Given the description of an element on the screen output the (x, y) to click on. 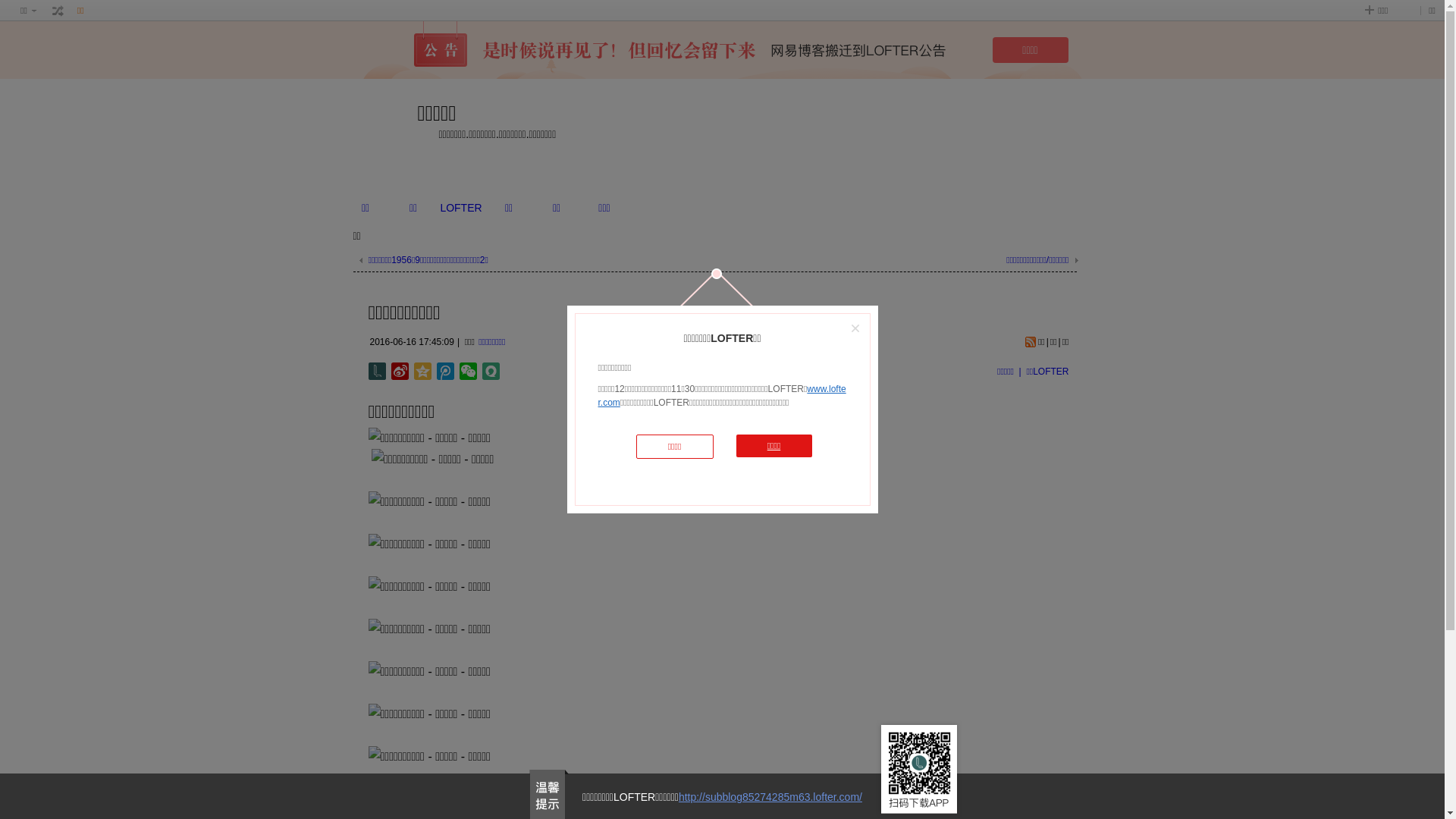
www.lofter.com Element type: text (721, 395)
  Element type: text (58, 10)
http://subblog85274285m63.lofter.com/ Element type: text (770, 796)
LOFTER Element type: text (460, 207)
